Given the description of an element on the screen output the (x, y) to click on. 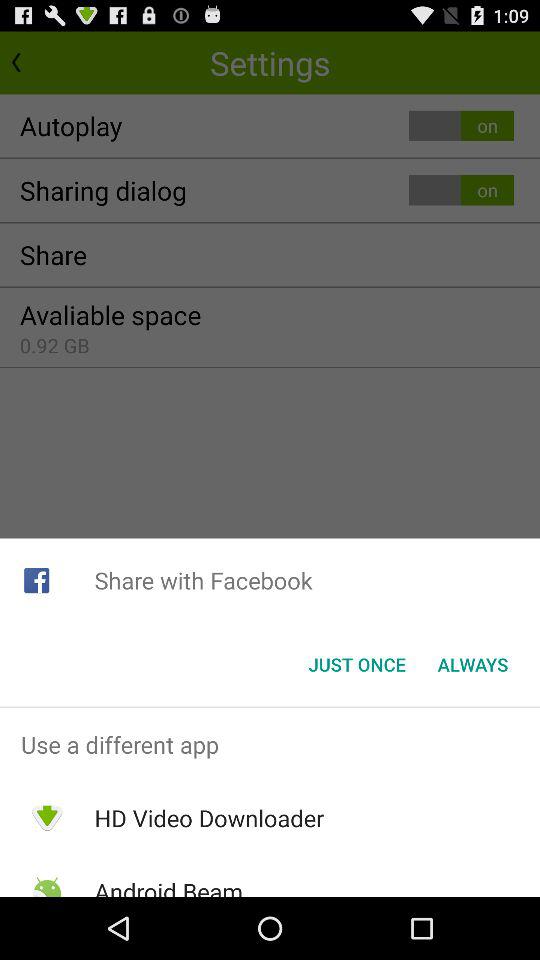
select the item next to the just once item (472, 664)
